Given the description of an element on the screen output the (x, y) to click on. 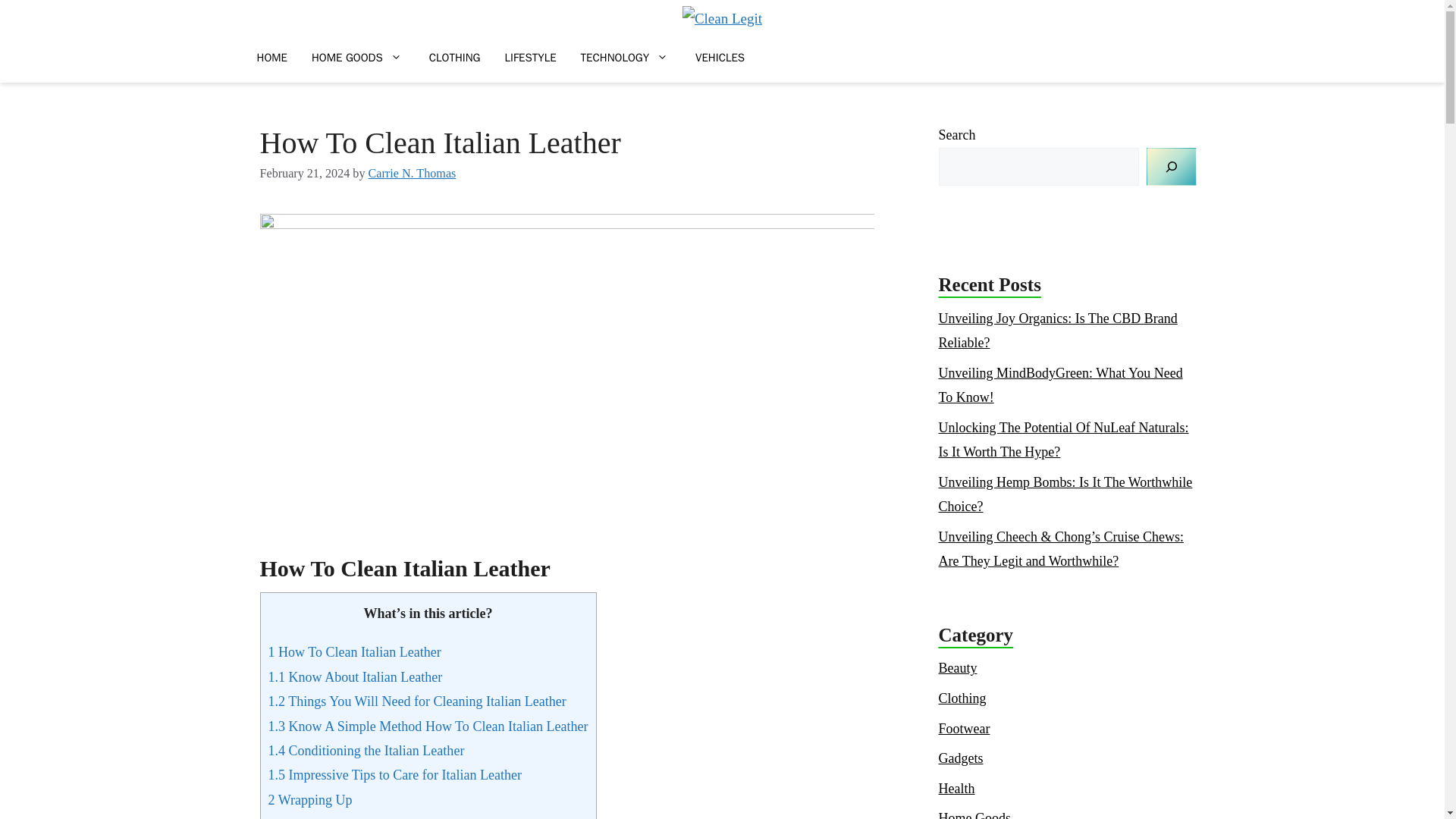
Carrie N. Thomas (412, 173)
1.1 Know About Italian Leather  (356, 676)
LIFESTYLE (531, 57)
VEHICLES (719, 57)
CLOTHING (454, 57)
1.3 Know A Simple Method How To Clean Italian Leather (427, 726)
1.2 Things You Will Need for Cleaning Italian Leather (416, 701)
View all posts by Carrie N. Thomas (412, 173)
HOME GOODS (357, 57)
1.5 Impressive Tips to Care for Italian Leather  (396, 774)
